Given the description of an element on the screen output the (x, y) to click on. 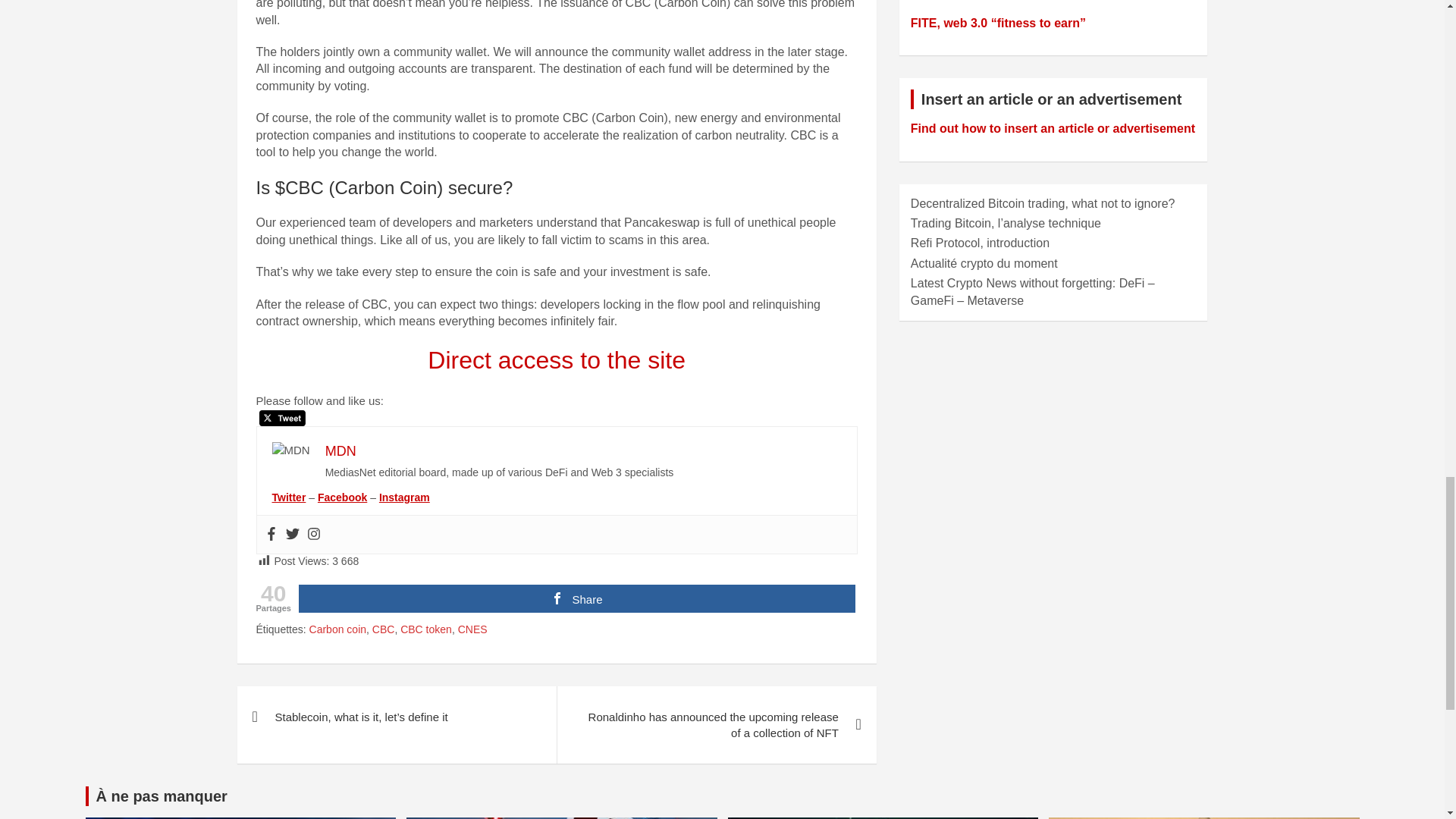
Facebook (270, 534)
Instagram (312, 534)
Twitter (291, 534)
Tweet (282, 417)
Twitter (287, 497)
MDN (340, 450)
Direct access to the site (556, 359)
